Given the description of an element on the screen output the (x, y) to click on. 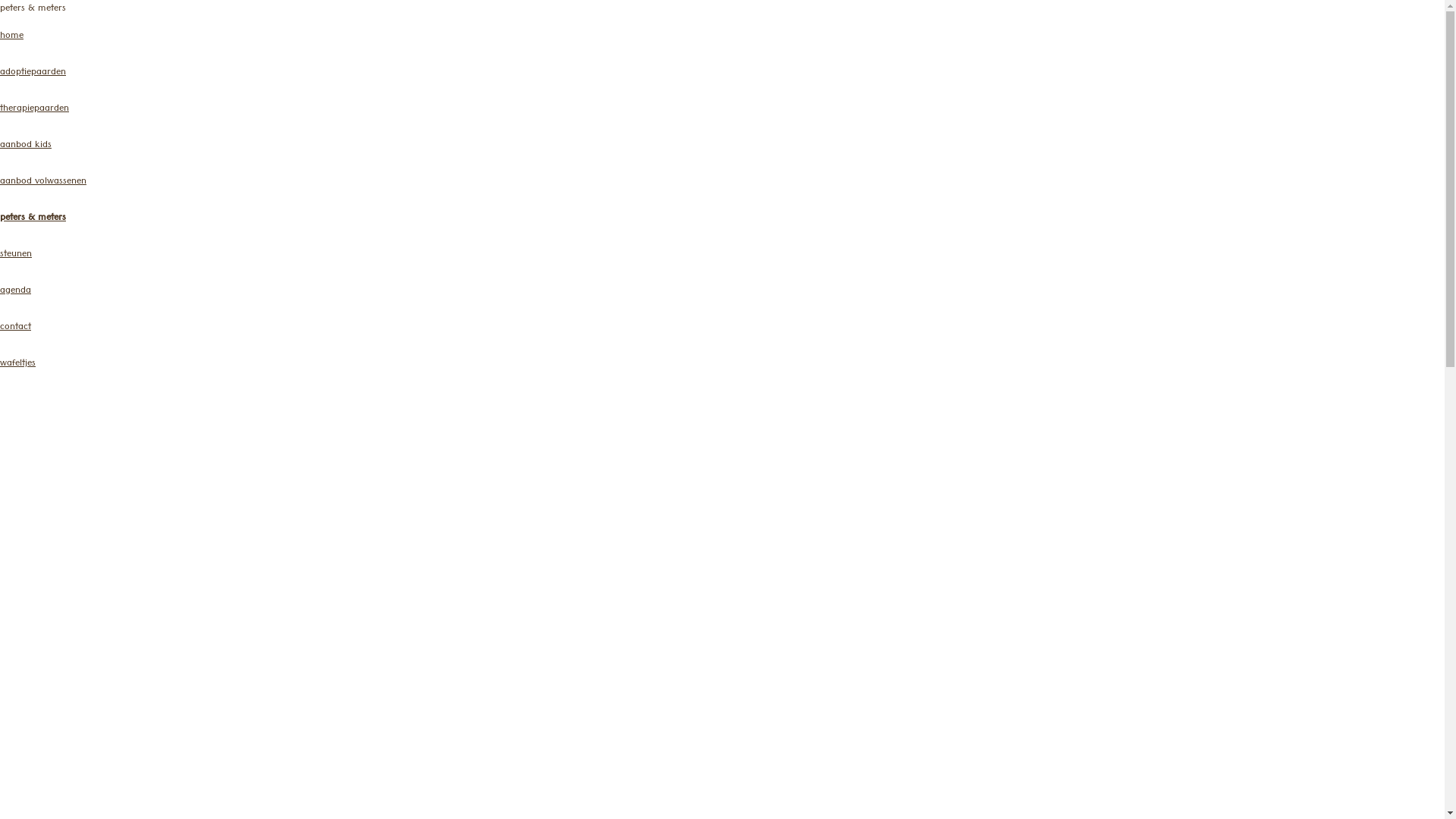
steunen Element type: text (15, 254)
therapiepaarden Element type: text (34, 109)
contact Element type: text (15, 327)
adoptiepaarden Element type: text (32, 72)
peters & meters Element type: text (32, 218)
aanbod volwassenen Element type: text (43, 181)
aanbod kids Element type: text (25, 145)
wafeltjes Element type: text (17, 363)
home Element type: text (11, 36)
agenda Element type: text (15, 291)
